Given the description of an element on the screen output the (x, y) to click on. 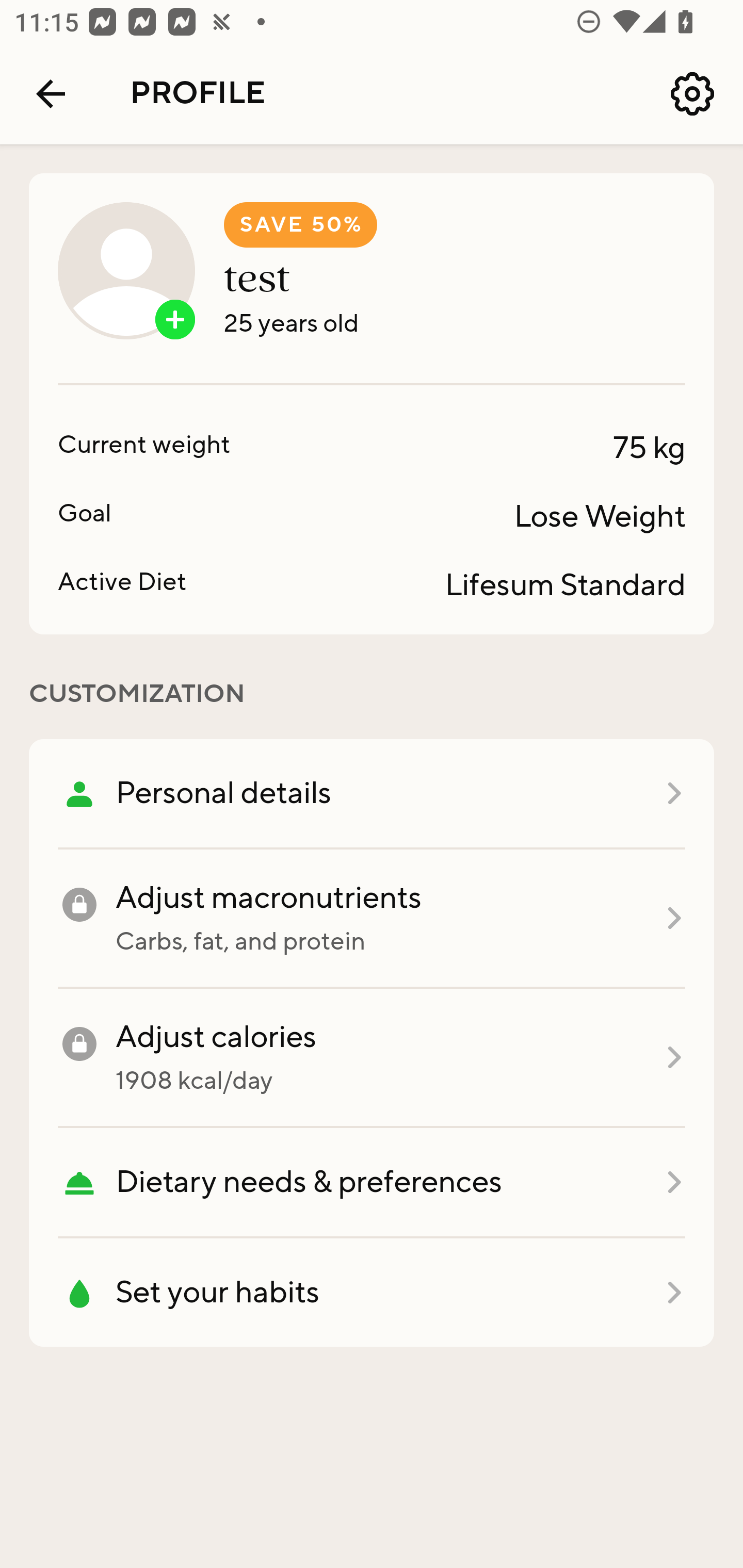
Back (50, 93)
settings (692, 93)
SAVE 50% (300, 224)
profile picture edit_background (125, 270)
Personal details (371, 793)
Adjust macronutrients Carbs, fat, and protein (371, 919)
Adjust calories 1908 kcal/day (371, 1058)
Dietary needs & preferences (371, 1182)
Set your habits (371, 1292)
